Given the description of an element on the screen output the (x, y) to click on. 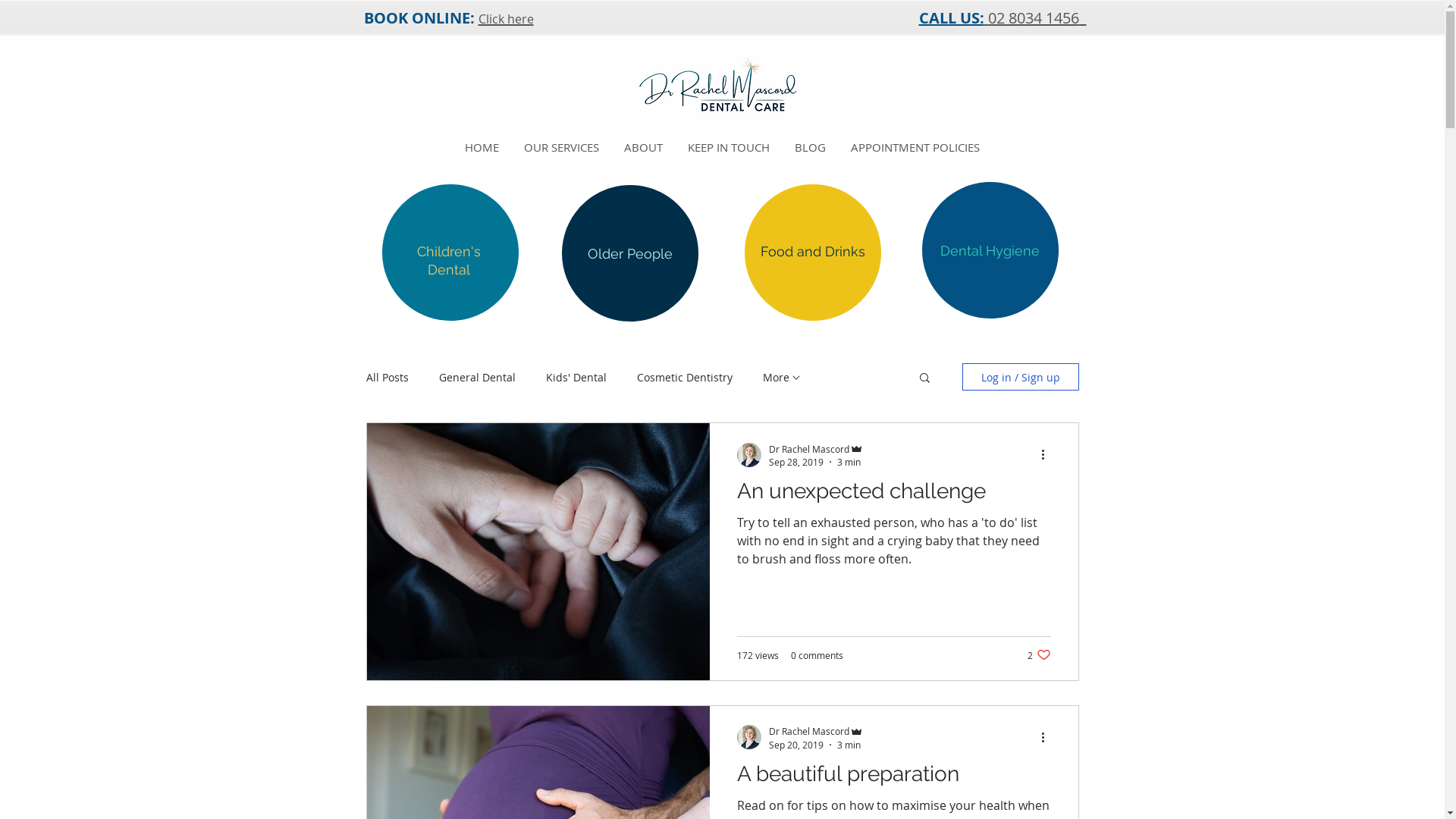
APPOINTMENT POLICIES Element type: text (915, 146)
2 likes. Post not marked as liked
2 Element type: text (1038, 654)
OUR SERVICES Element type: text (561, 146)
KEEP IN TOUCH Element type: text (727, 146)
Log in / Sign up Element type: text (1019, 376)
BLOG Element type: text (810, 146)
Dr Rachel Mascord Element type: text (815, 448)
Dr Rachel Mascord Element type: text (815, 730)
CALL US: 02 8034 1456   Element type: text (1002, 17)
An unexpected challenge Element type: text (894, 494)
Click here Element type: text (505, 17)
0 comments Element type: text (816, 655)
A beautiful preparation Element type: text (894, 777)
HOME Element type: text (481, 146)
ABOUT Element type: text (642, 146)
